Given the description of an element on the screen output the (x, y) to click on. 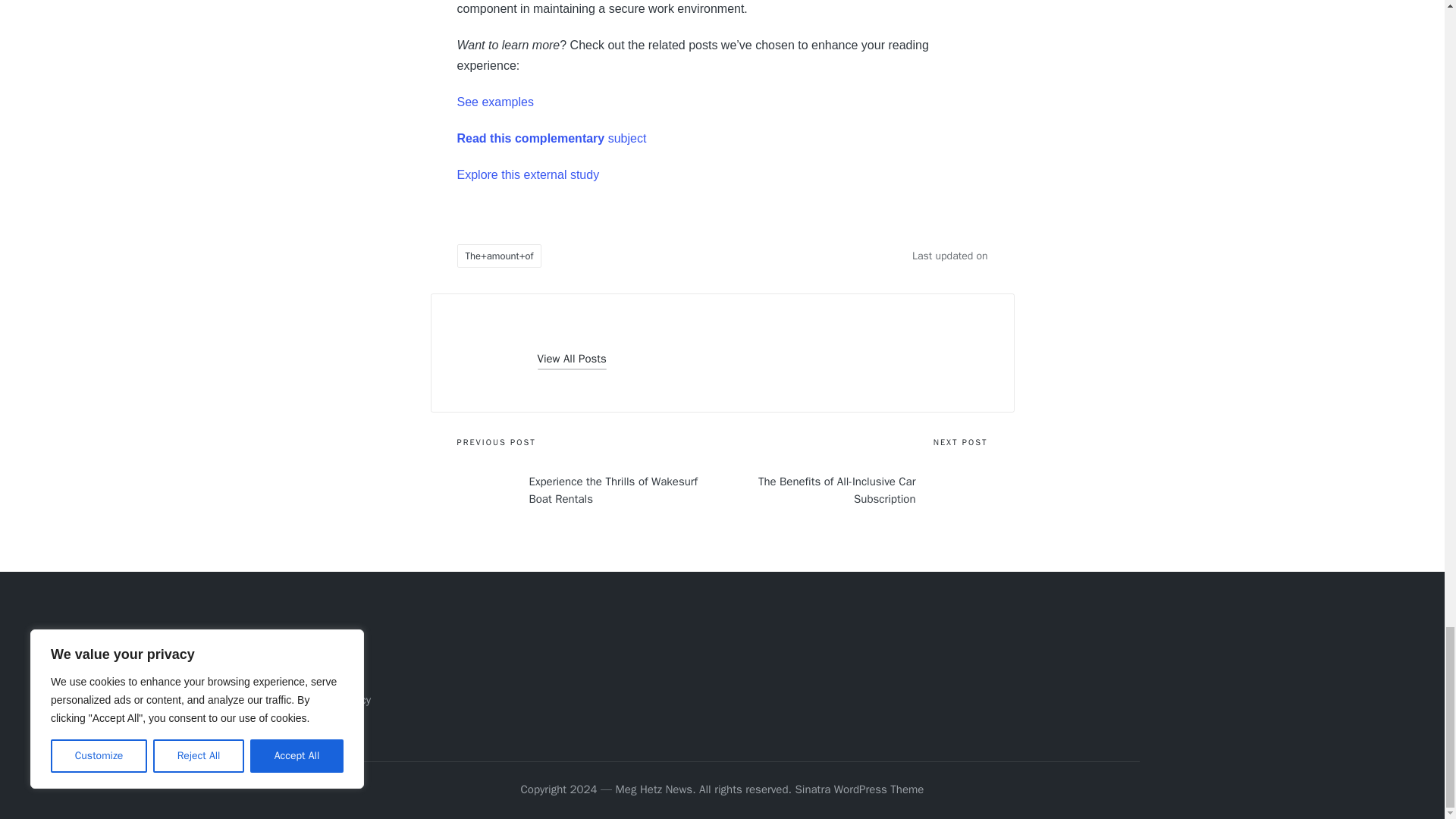
View All Posts (571, 358)
Contact (323, 674)
The Benefits of All-Inclusive Car Subscription (854, 489)
About (318, 650)
Read this complementary subject (551, 137)
Sinatra WordPress Theme (859, 790)
See examples (494, 101)
Explore this external study (527, 174)
Privacy Policy (337, 699)
Experience the Thrills of Wakesurf Boat Rentals (589, 489)
